Given the description of an element on the screen output the (x, y) to click on. 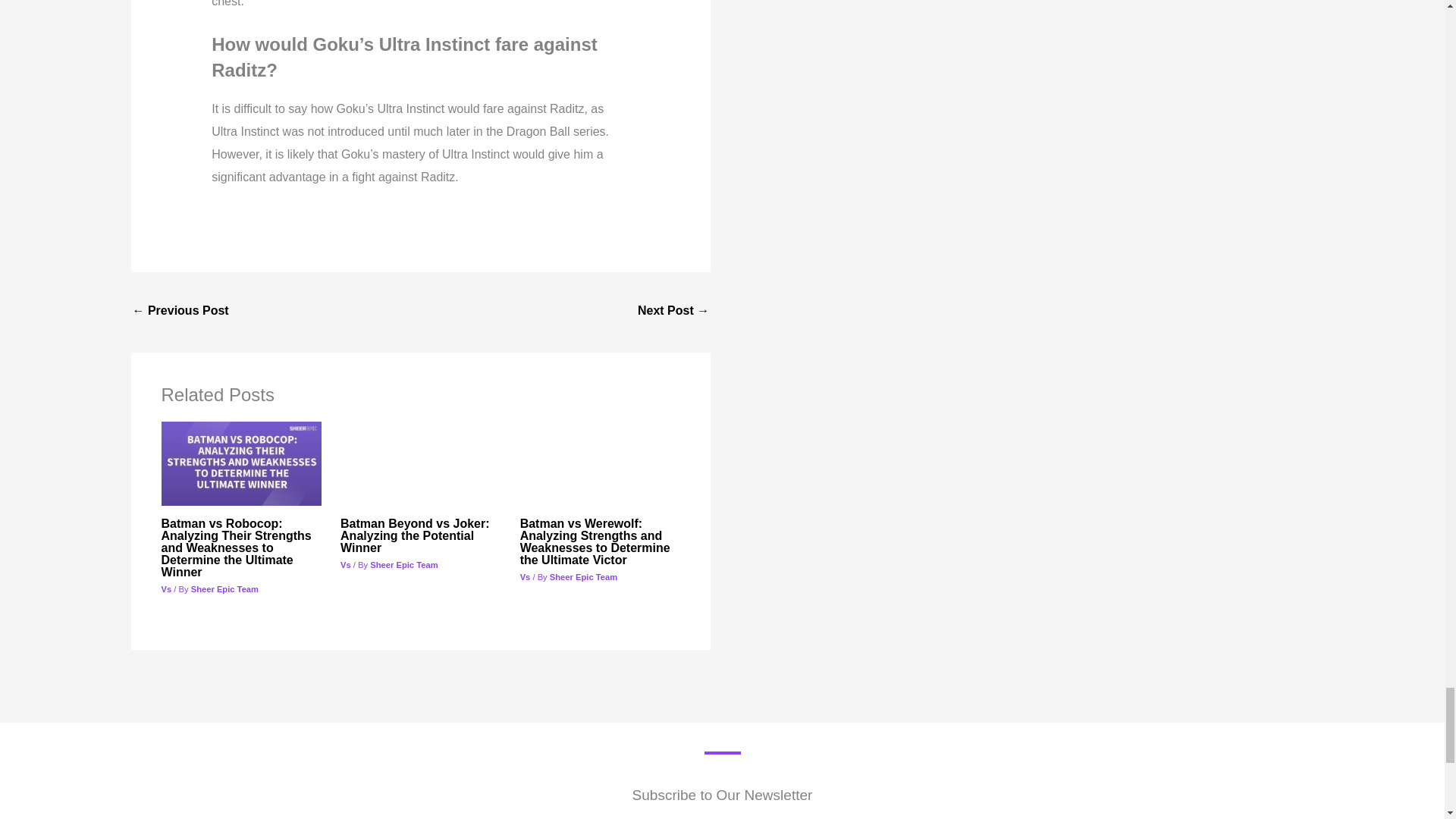
Vs (345, 564)
Vs (165, 588)
Goku vs Cooler: A Clear Winner Emerges in this Epic Battle (673, 311)
Sheer Epic Team (403, 564)
Sheer Epic Team (583, 576)
Vs (525, 576)
Batman Beyond vs Joker: Analyzing the Potential Winner (414, 535)
View all posts by Sheer Epic Team (583, 576)
View all posts by Sheer Epic Team (224, 588)
Sheer Epic Team (224, 588)
View all posts by Sheer Epic Team (403, 564)
